Given the description of an element on the screen output the (x, y) to click on. 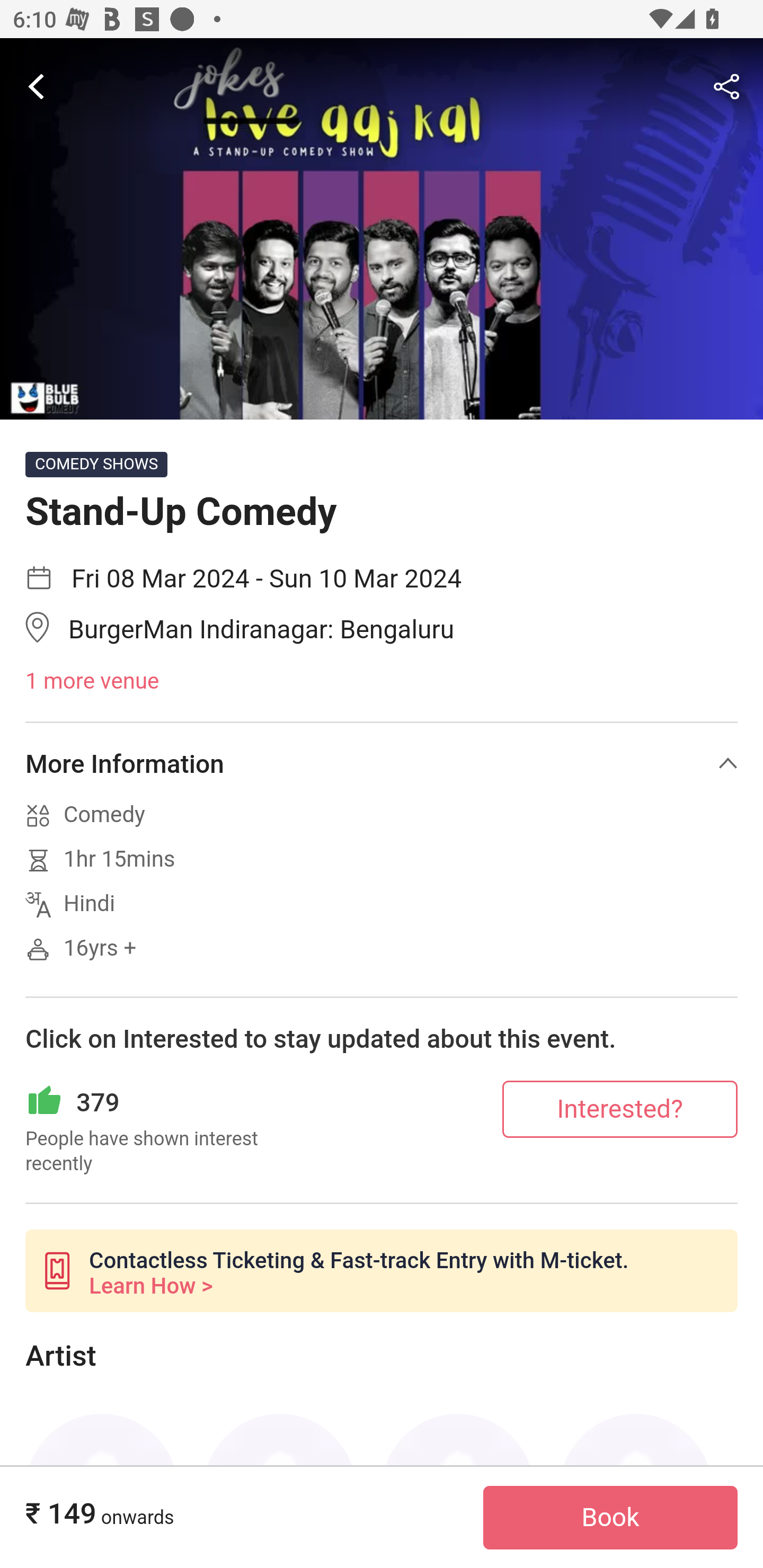
1 more venue (381, 681)
More Information (381, 763)
Interested? (619, 1108)
Learn How > (150, 1286)
Book (609, 1517)
